Given the description of an element on the screen output the (x, y) to click on. 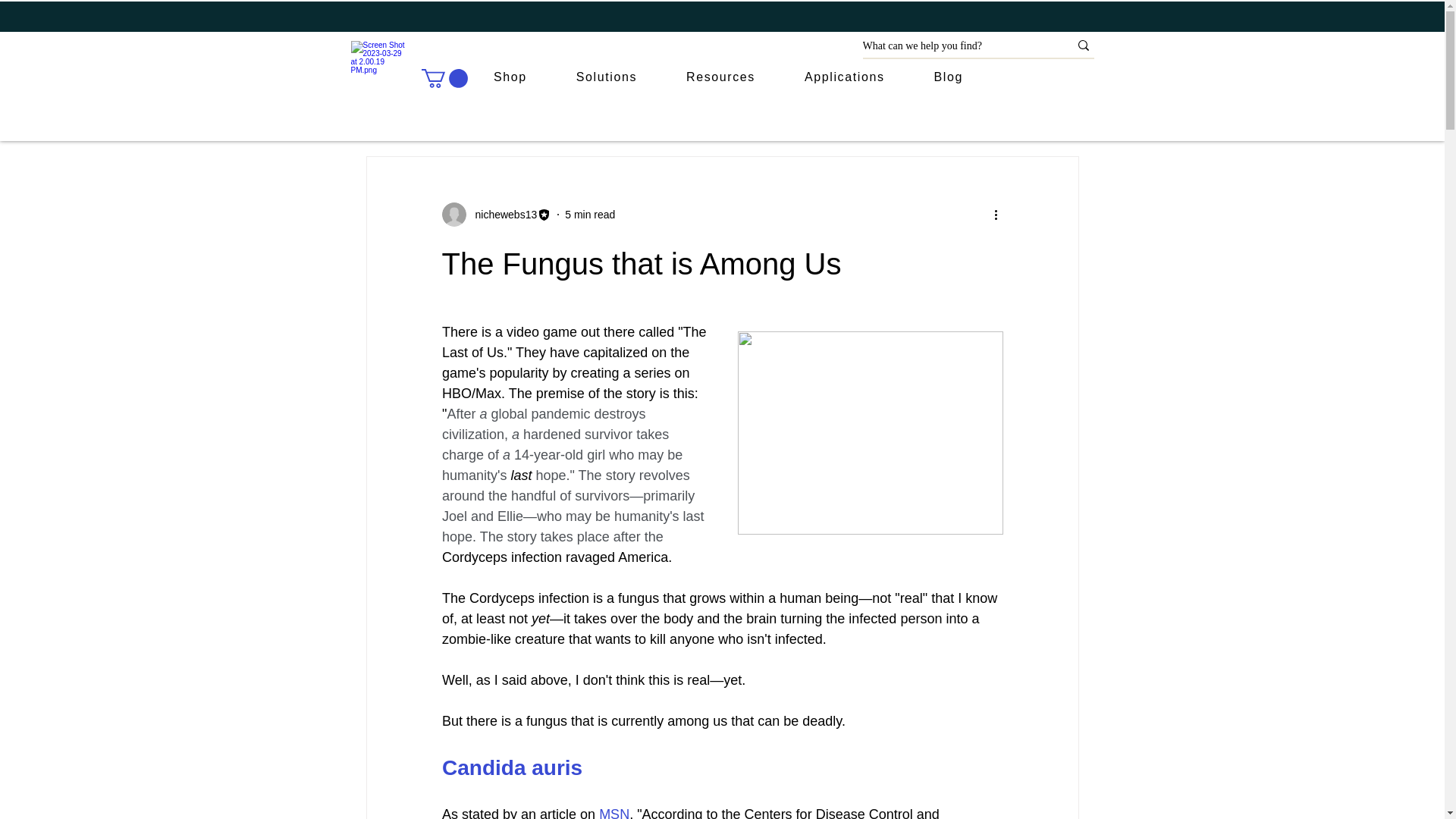
nichewebs13 (501, 213)
Blog (948, 78)
Resources (721, 78)
Shop (509, 78)
5 min read (589, 214)
nichewebs13 (496, 214)
MSN (613, 812)
Applications (844, 78)
